Given the description of an element on the screen output the (x, y) to click on. 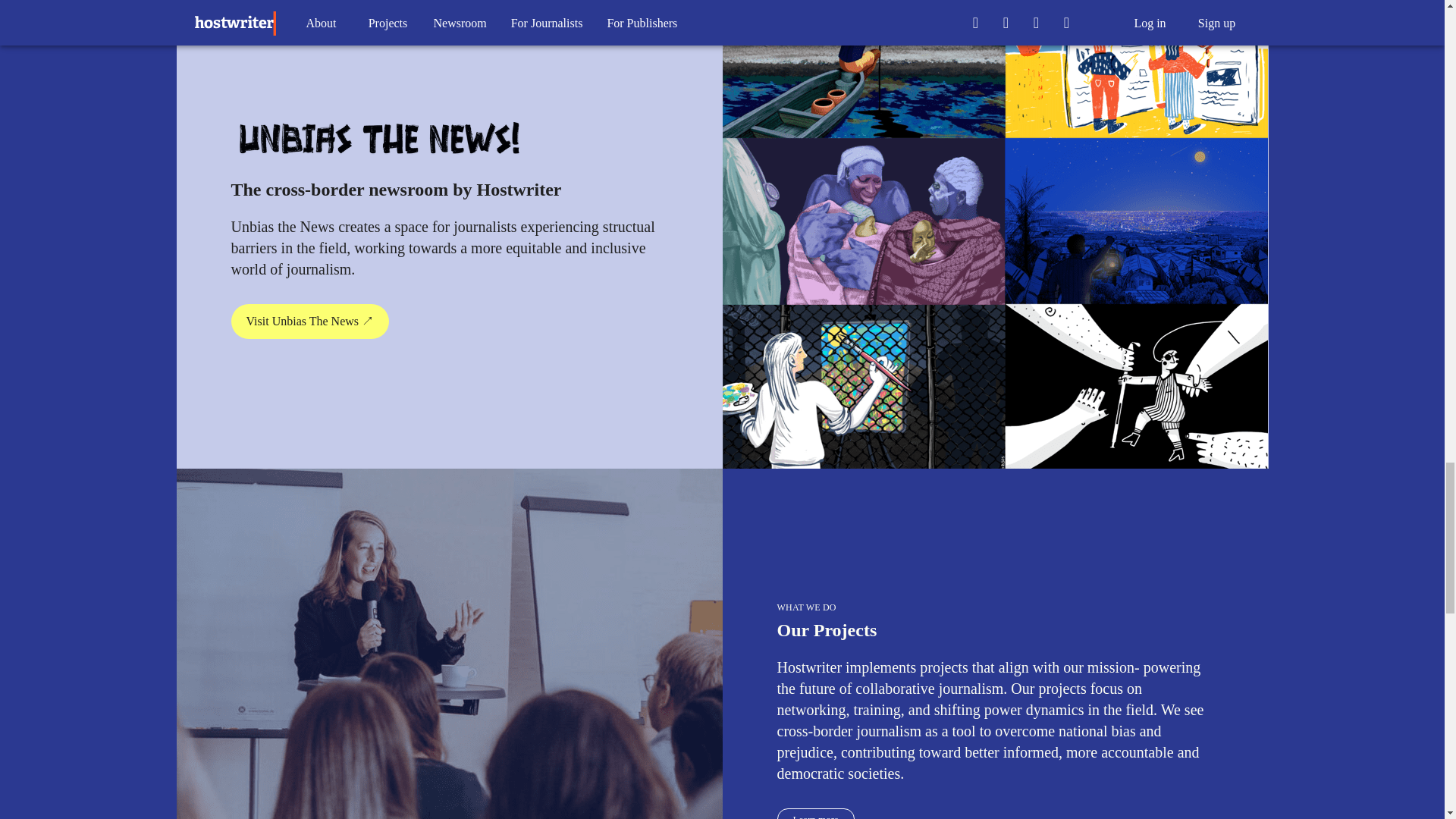
Learn more (814, 813)
